Given the description of an element on the screen output the (x, y) to click on. 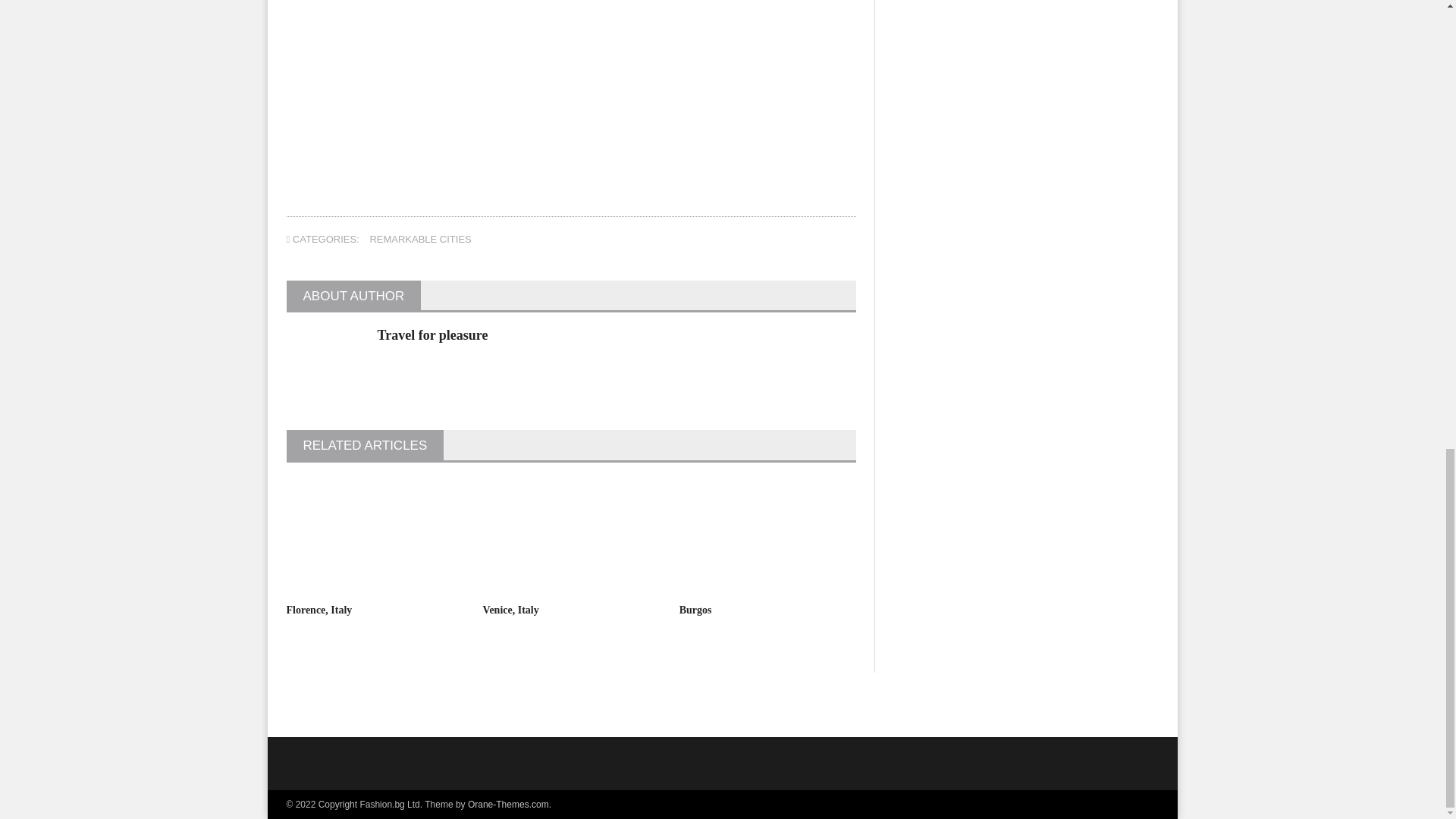
Venice, Italy (510, 609)
REMARKABLE CITIES (419, 238)
Burgos (695, 609)
Florence, Italy (319, 609)
Travel for pleasure (432, 335)
